Given the description of an element on the screen output the (x, y) to click on. 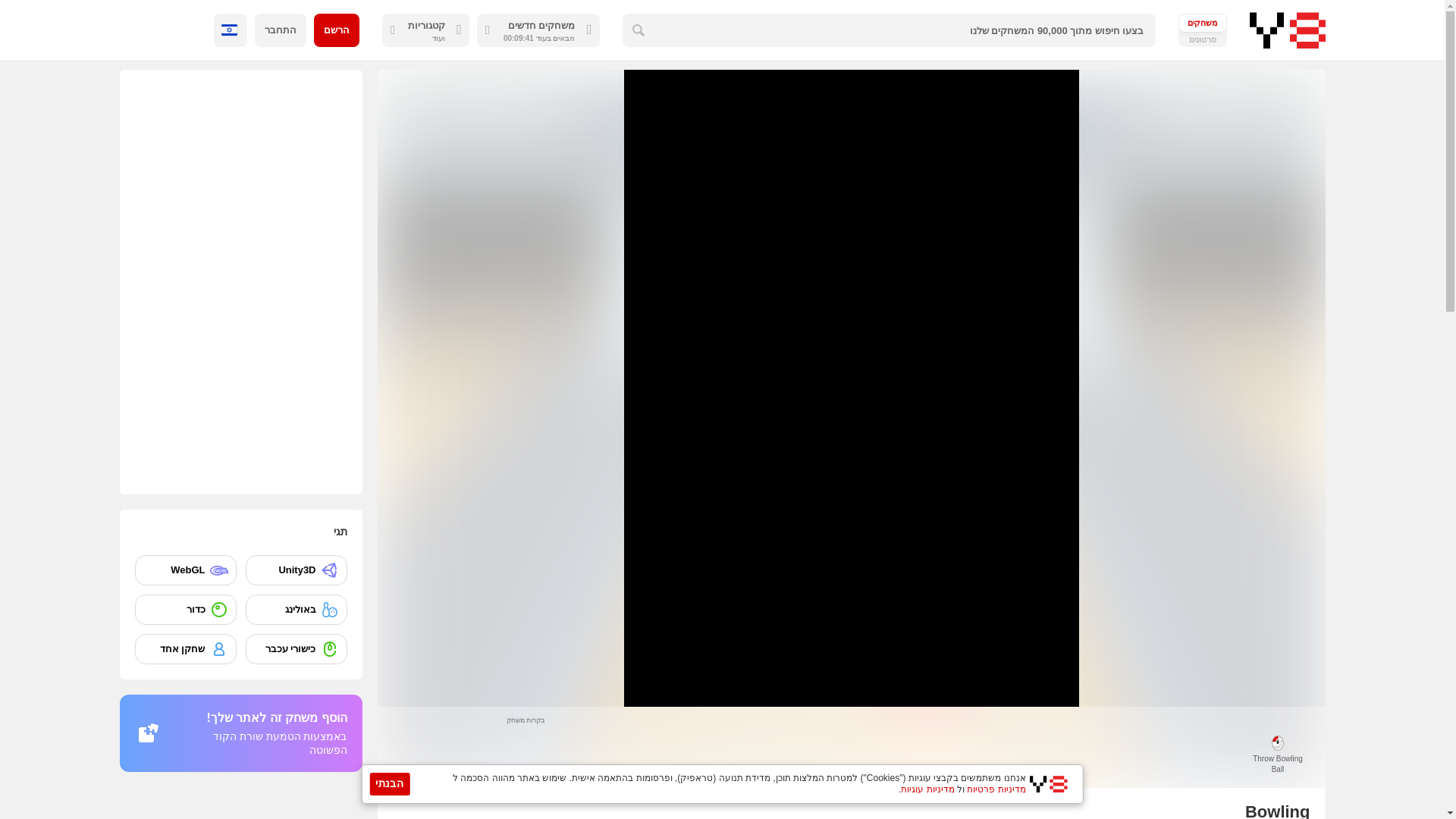
WebGL (185, 570)
Unity3D (296, 570)
